Given the description of an element on the screen output the (x, y) to click on. 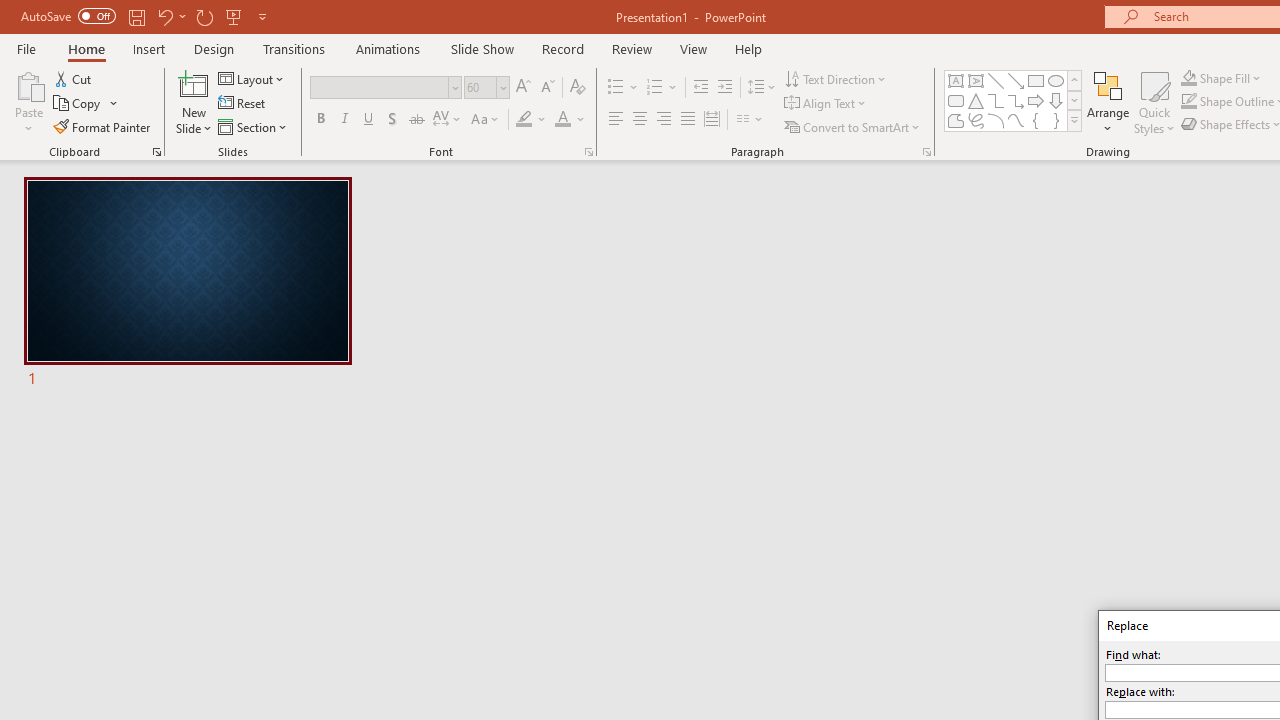
Shape Outline Blue, Accent 1 (1188, 101)
